Given the description of an element on the screen output the (x, y) to click on. 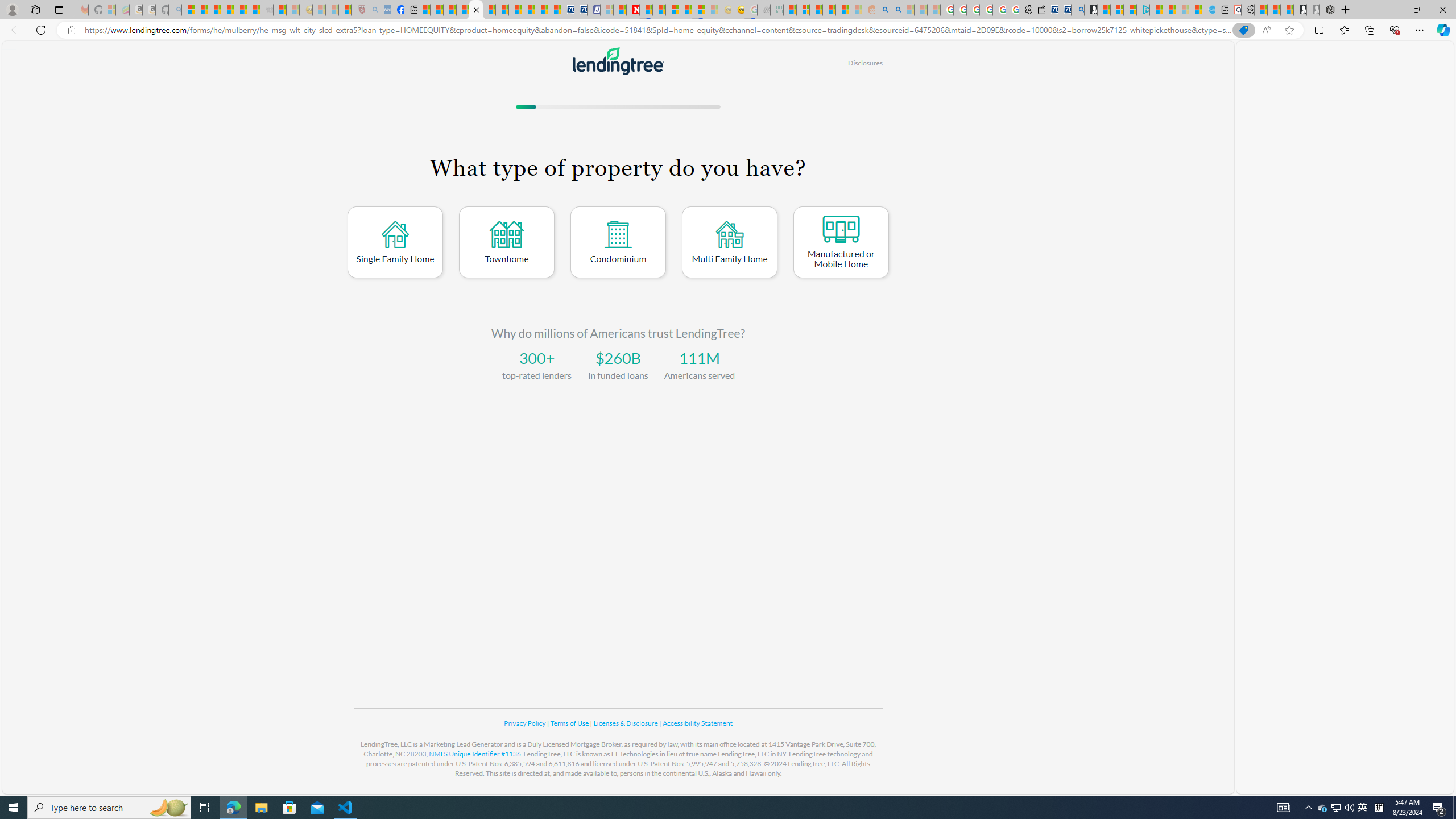
Student Loan Update: Forgiveness Program Ends This Month (842, 9)
